Given the description of an element on the screen output the (x, y) to click on. 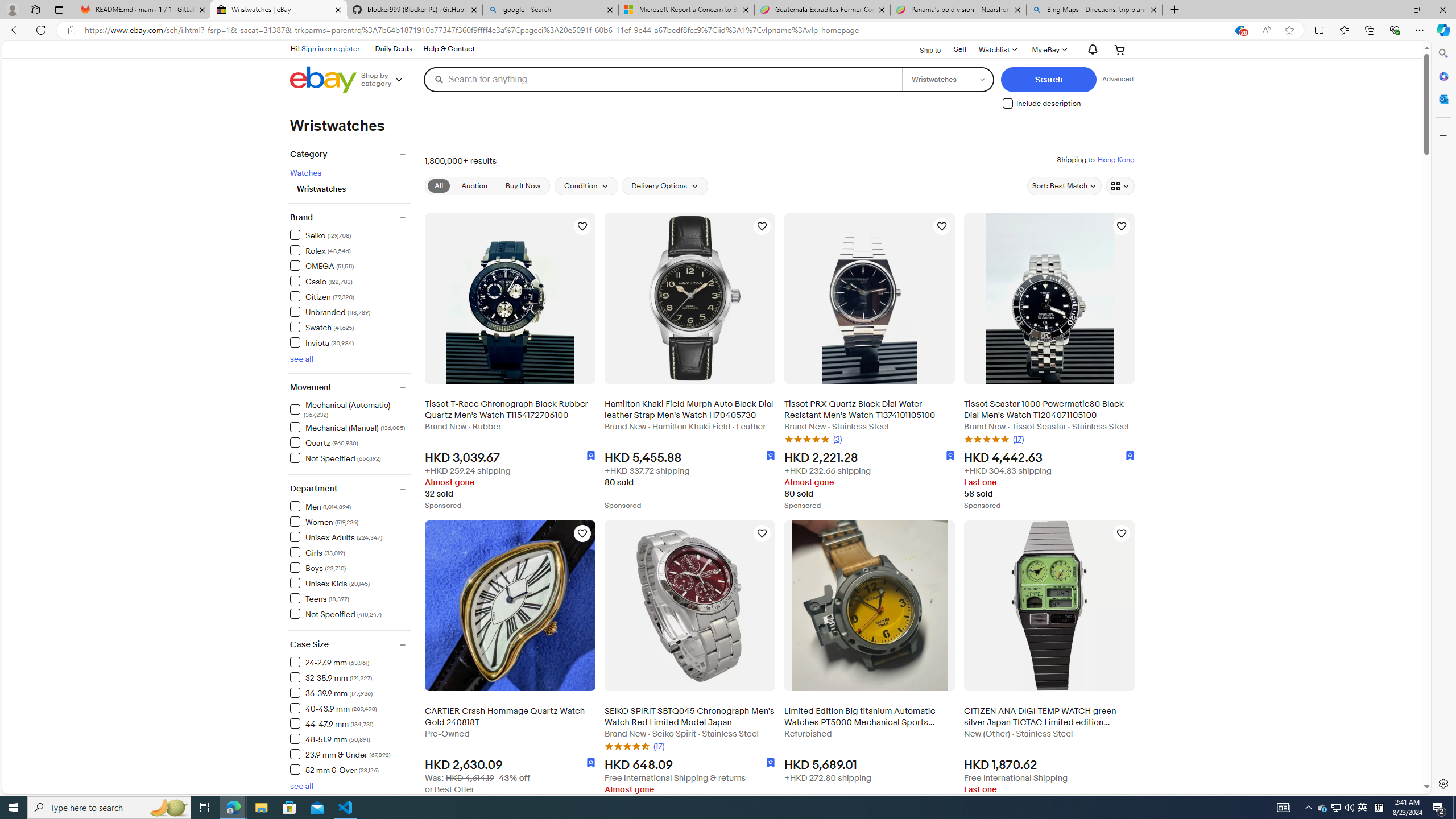
Not Specified (410,247) Items (335, 613)
Movement (349, 387)
Not Specified(656,192) Items (349, 457)
see all - Brand - opens dialog (301, 358)
48-51.9 mm (50,891) Items (329, 738)
Help & Contact (448, 49)
Listing options selector. Gallery View selected. (1120, 185)
Wristwatches | eBay (277, 9)
